Given the description of an element on the screen output the (x, y) to click on. 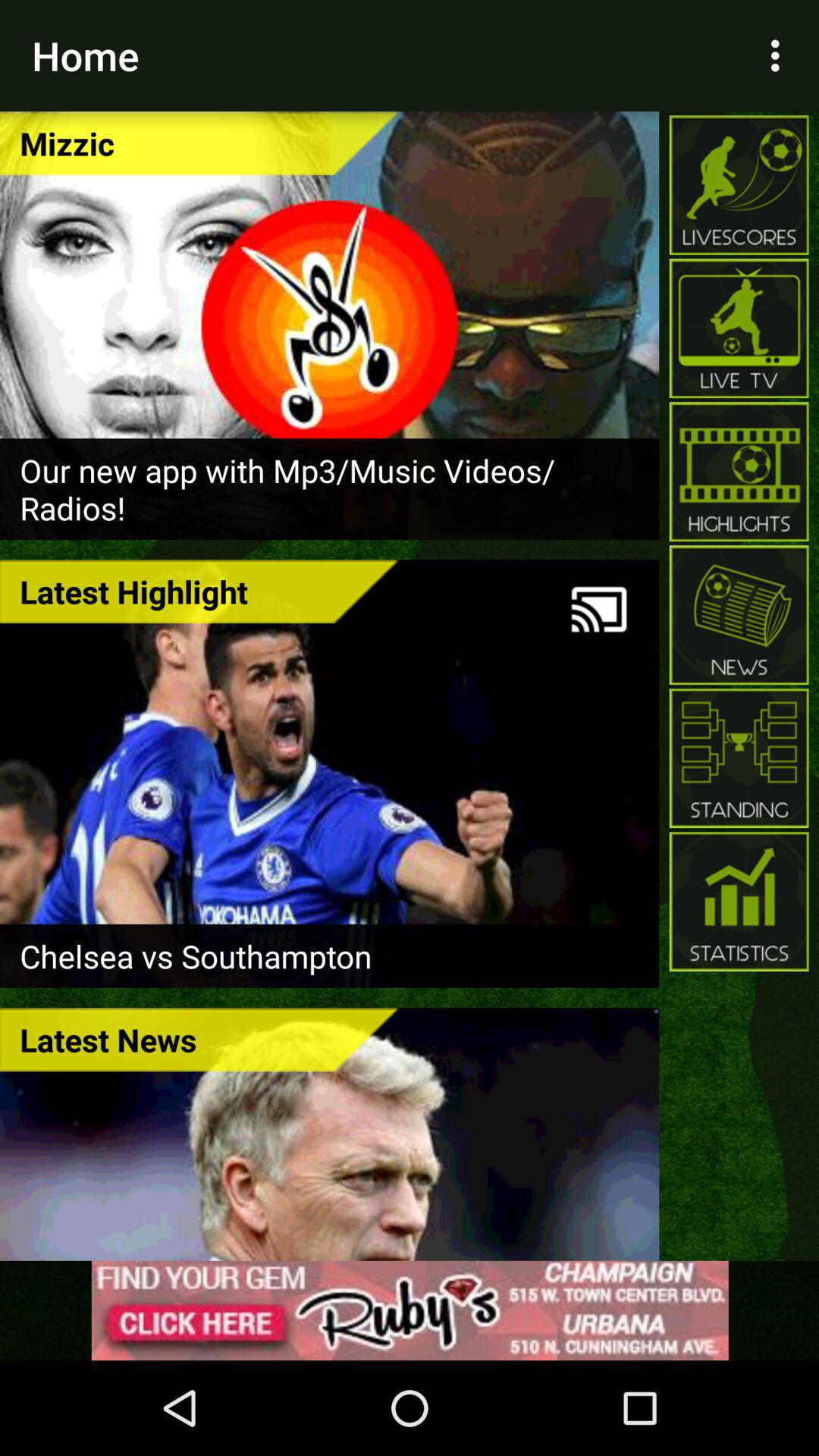
choose the icon next to latest highlight item (599, 609)
